Given the description of an element on the screen output the (x, y) to click on. 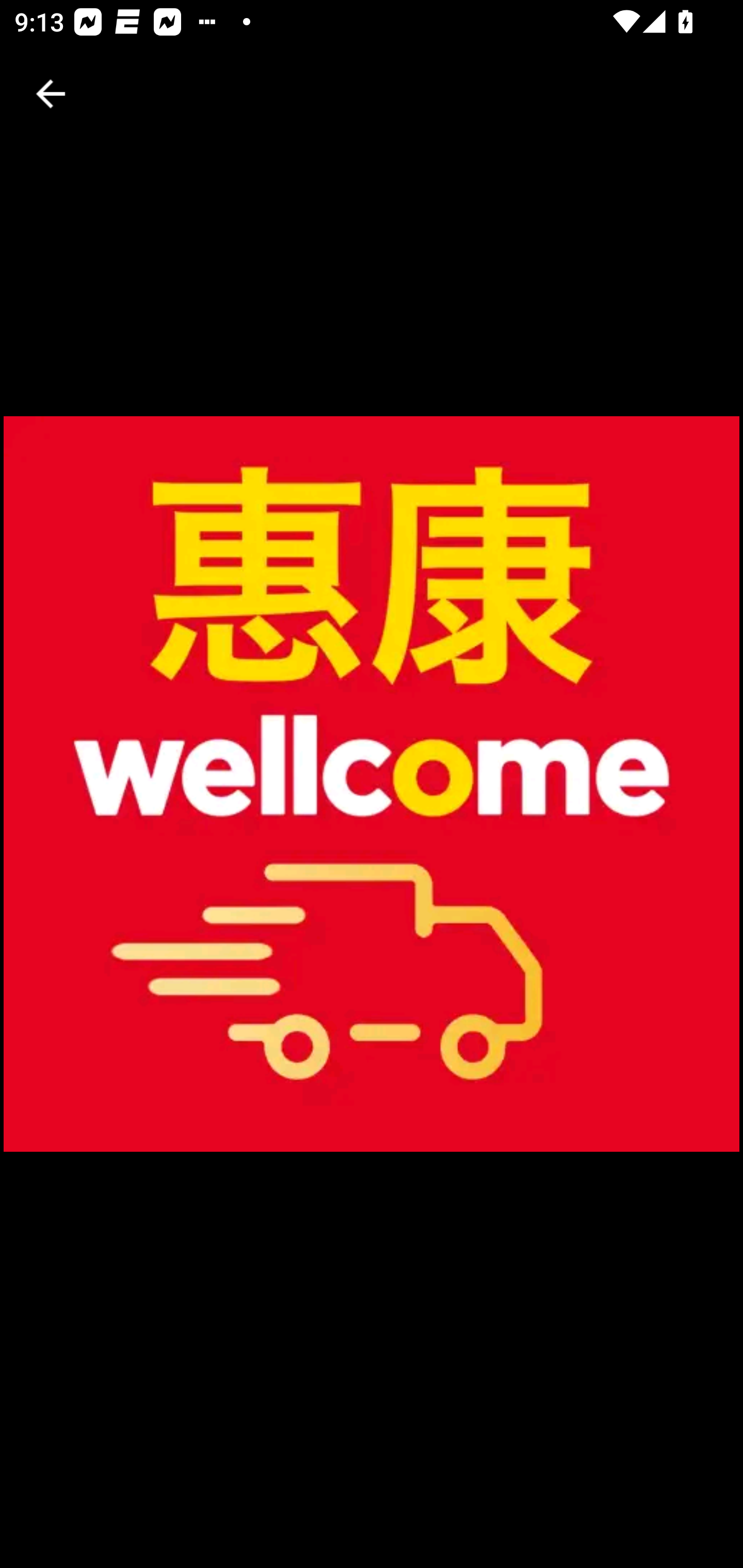
Back (50, 93)
